Given the description of an element on the screen output the (x, y) to click on. 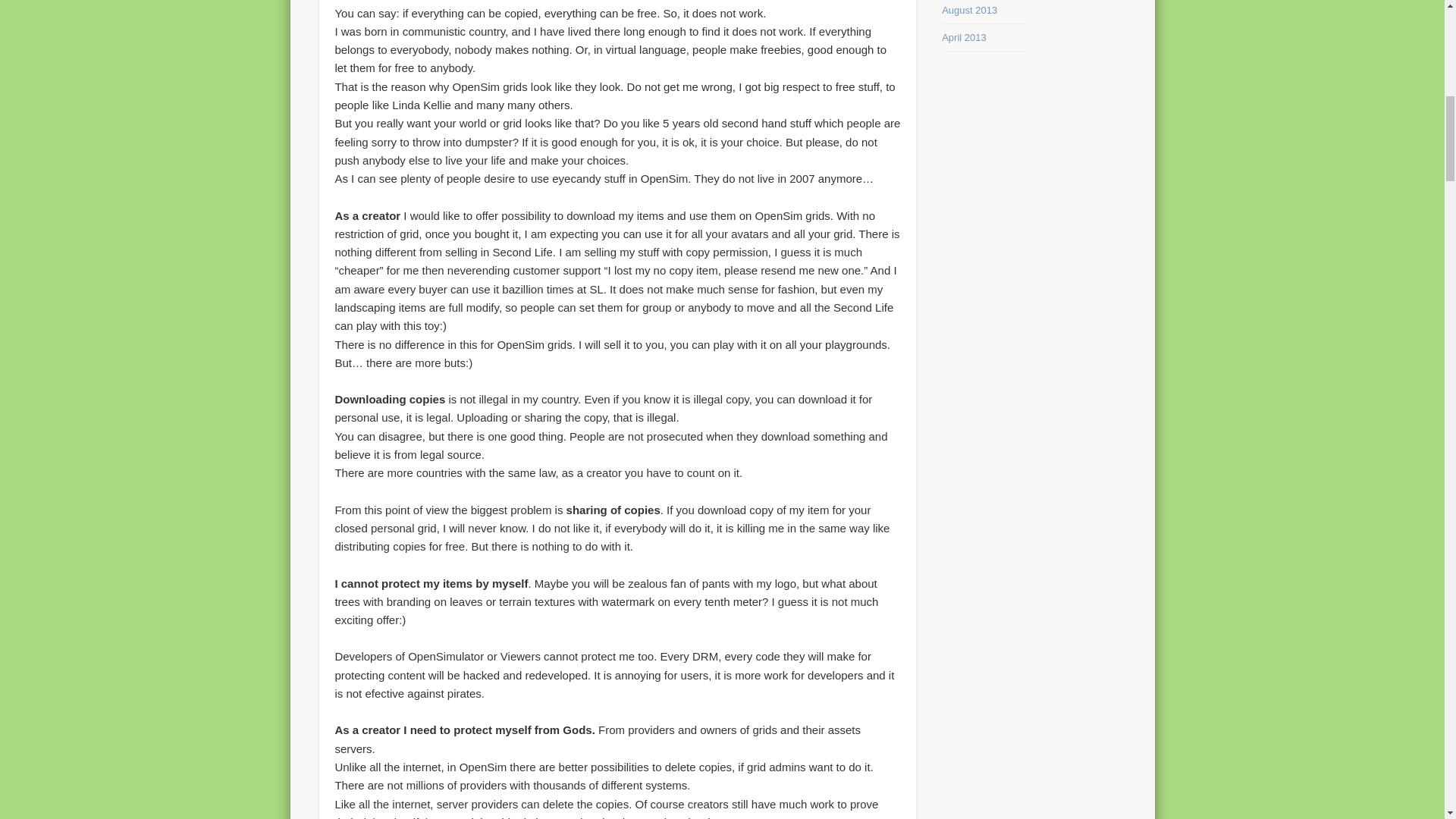
August 2013 (969, 9)
